Given the description of an element on the screen output the (x, y) to click on. 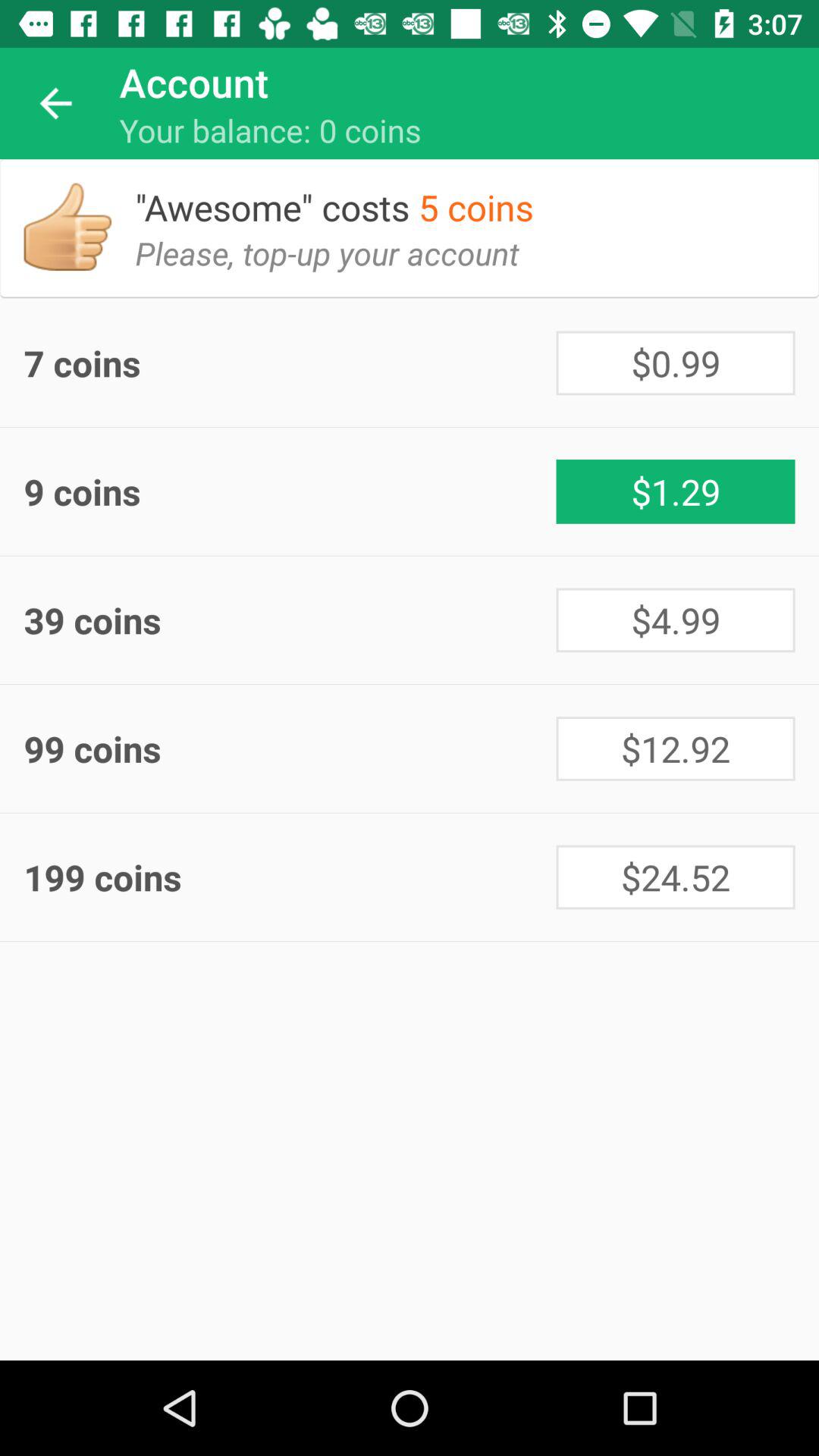
launch item above 7 coins (67, 226)
